Given the description of an element on the screen output the (x, y) to click on. 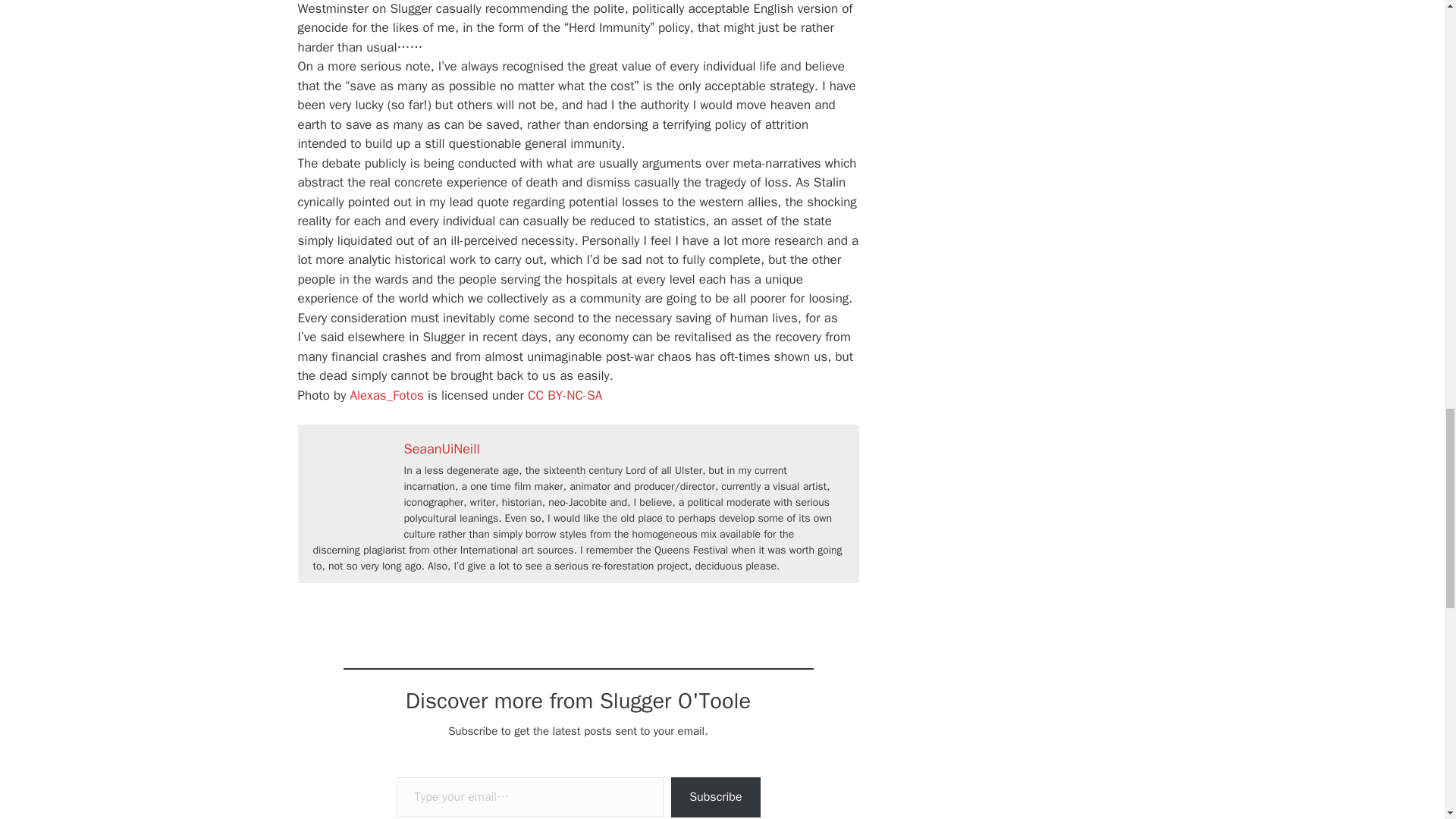
Please fill in this field. (529, 797)
